Given the description of an element on the screen output the (x, y) to click on. 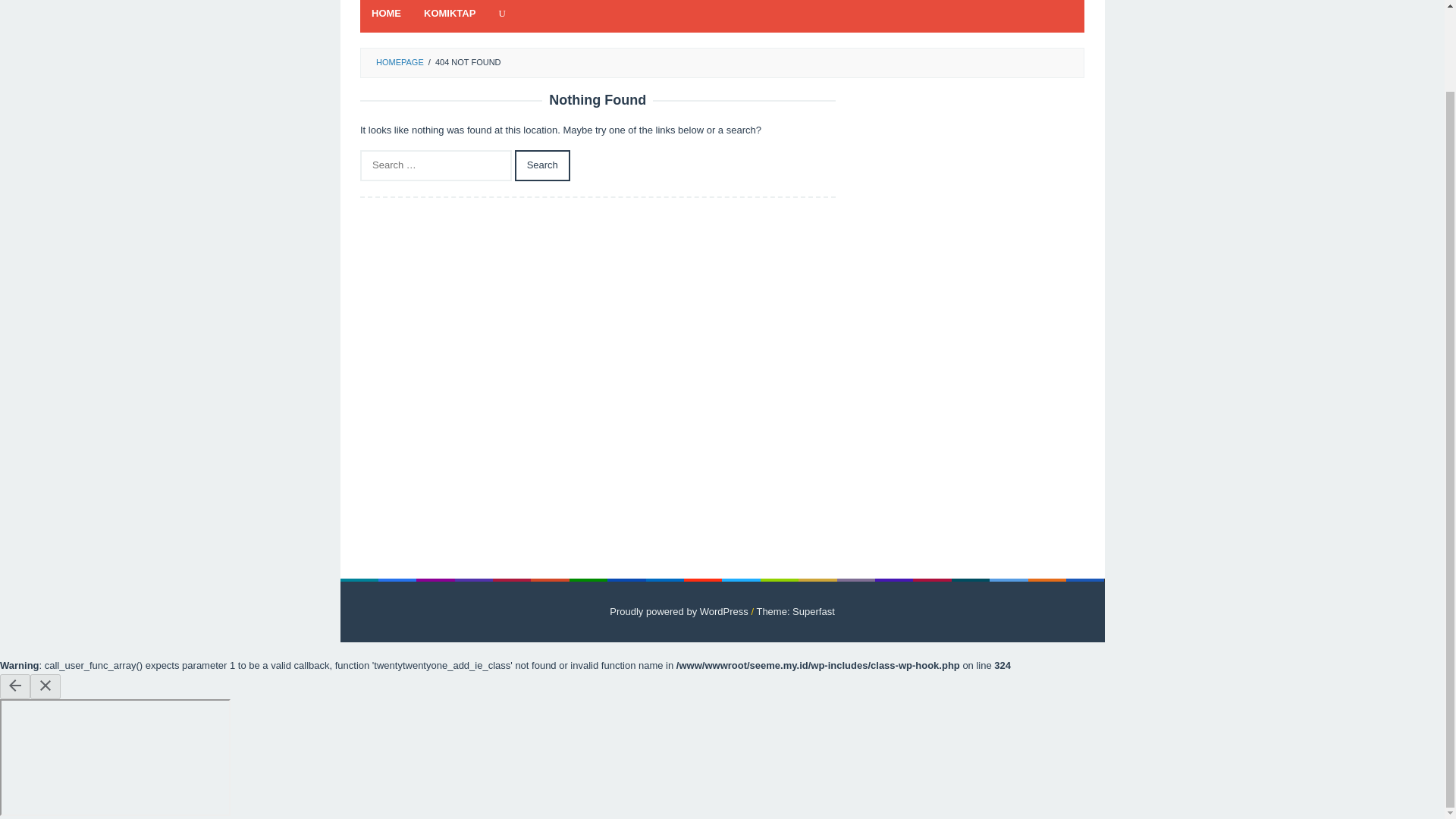
Search (542, 164)
Proudly powered by WordPress (679, 611)
HOMEPAGE (399, 61)
Search (542, 164)
Theme: Superfast (794, 611)
HOME (385, 16)
Proudly powered by WordPress (679, 611)
Search (542, 164)
Theme: Superfast (794, 611)
KOMIKTAP (449, 16)
